Given the description of an element on the screen output the (x, y) to click on. 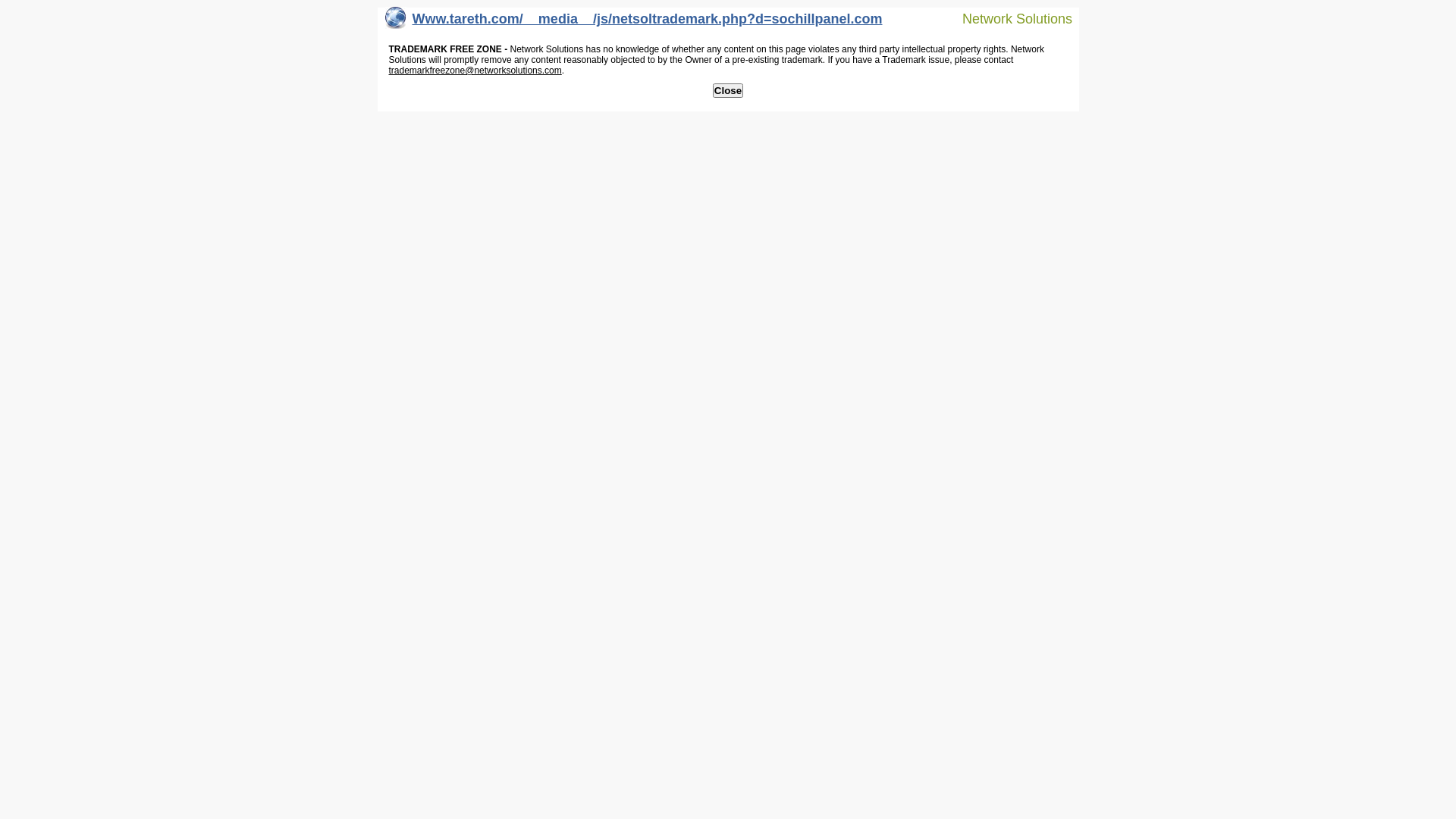
Network Solutions Element type: text (1007, 17)
trademarkfreezone@networksolutions.com Element type: text (474, 70)
Close Element type: text (727, 90)
